Given the description of an element on the screen output the (x, y) to click on. 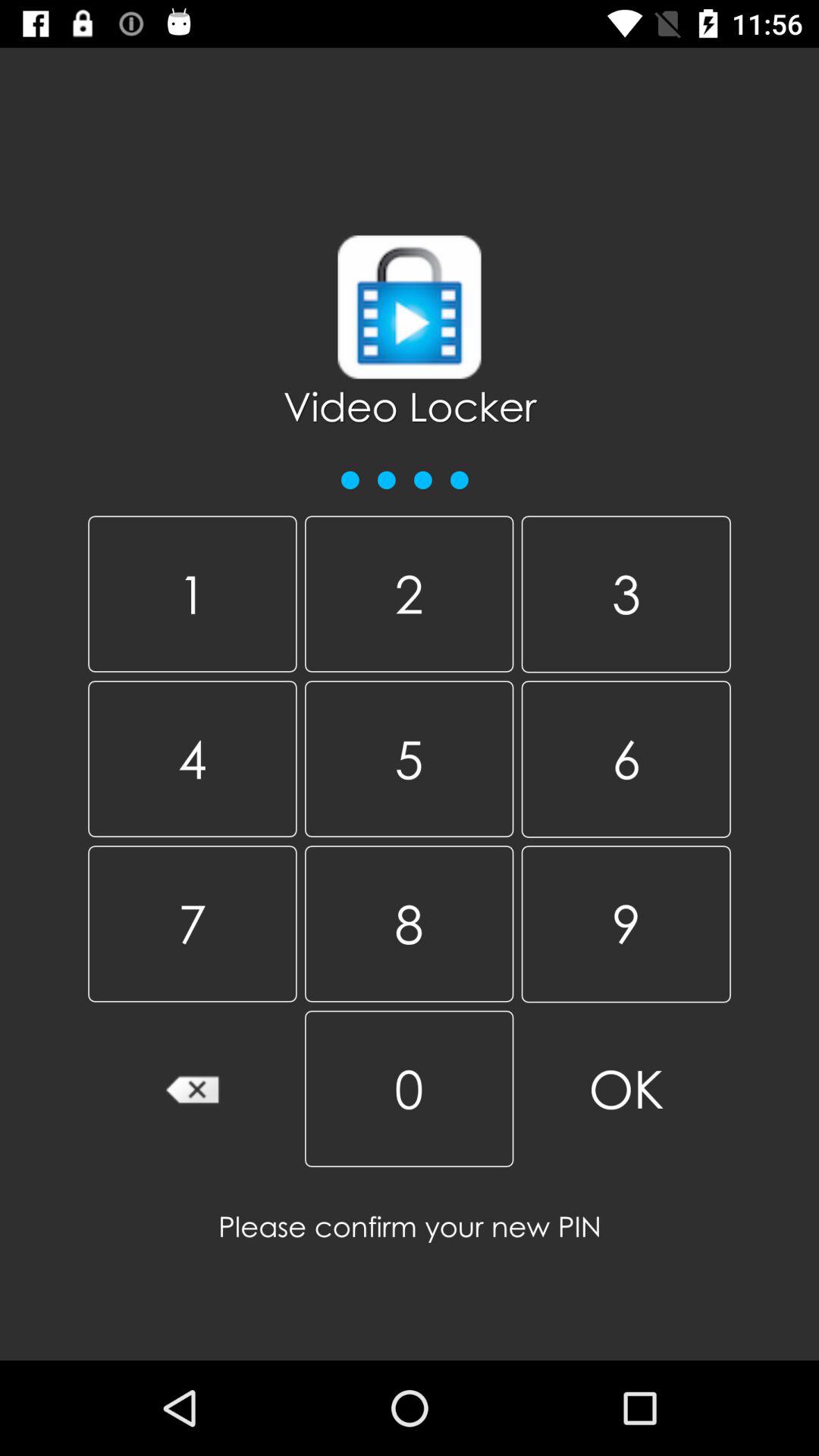
choose the icon to the right of 4 (408, 923)
